Given the description of an element on the screen output the (x, y) to click on. 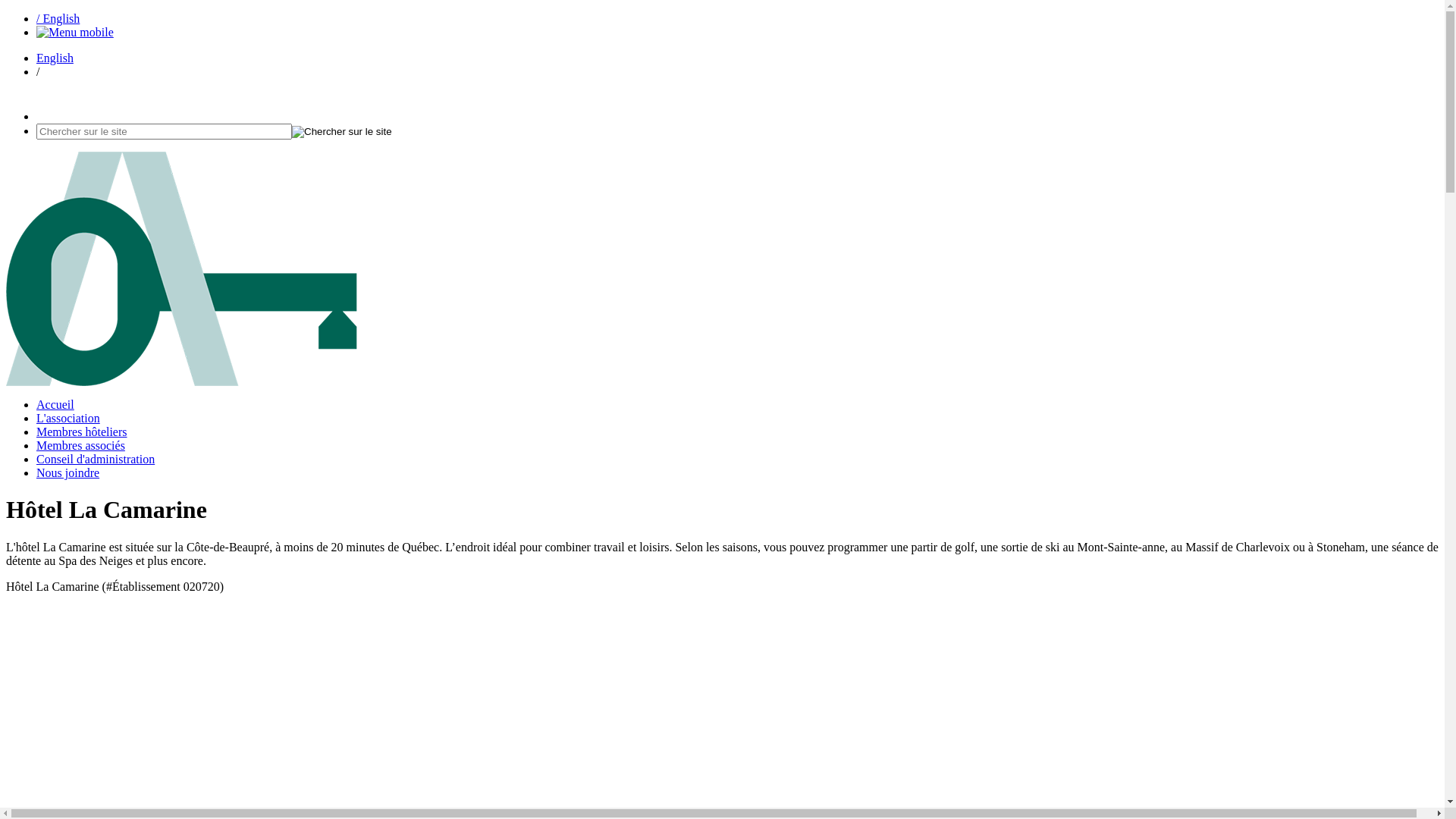
/ English Element type: text (57, 18)
Conseil d'administration Element type: text (95, 458)
English Element type: text (54, 57)
Accueil Element type: text (55, 404)
Nous joindre Element type: text (67, 472)
L'association Element type: text (68, 417)
